Given the description of an element on the screen output the (x, y) to click on. 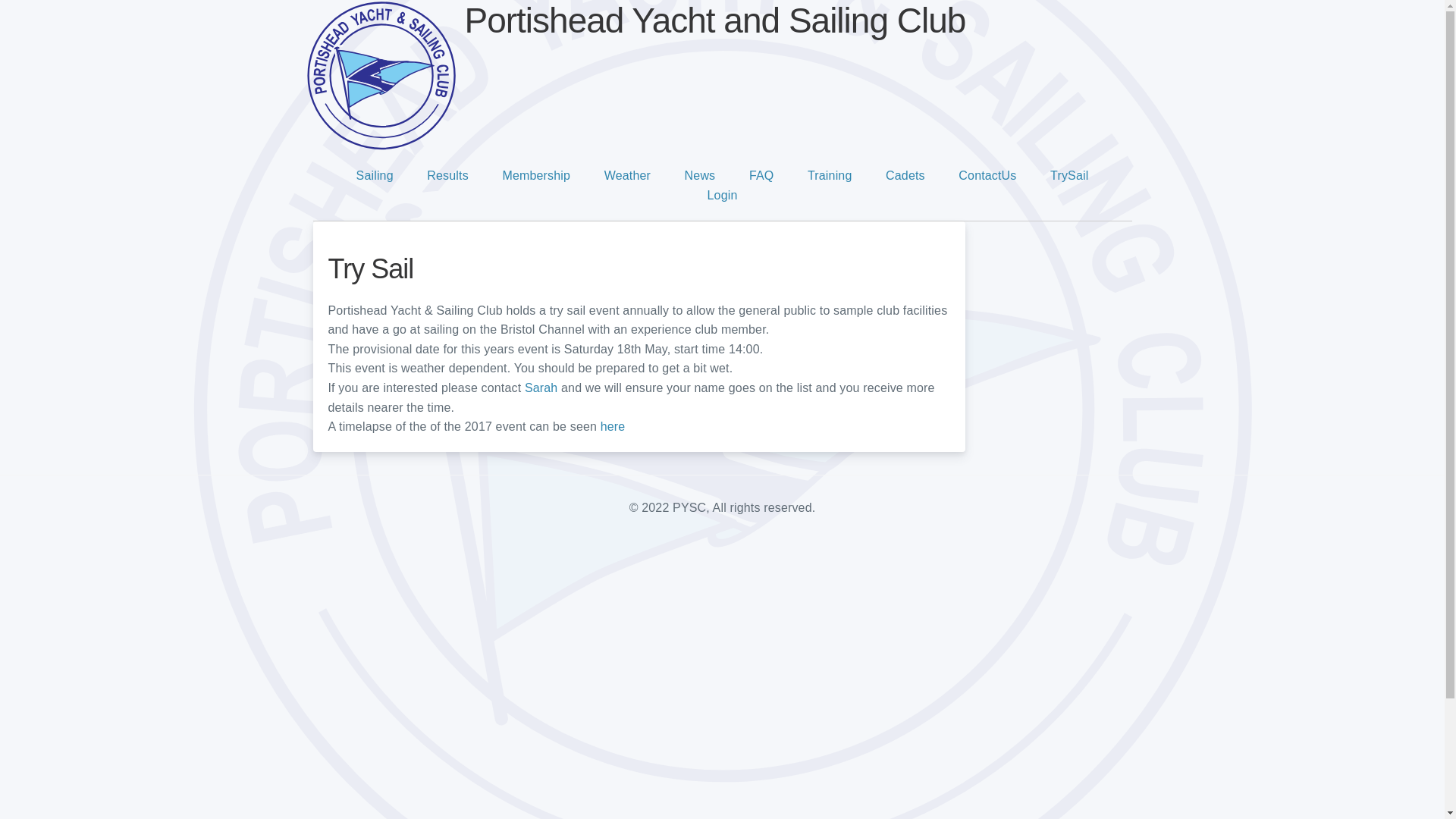
ContactUs (987, 174)
News (700, 174)
TrySail (1068, 174)
Results (446, 174)
Sarah (540, 387)
Membership (536, 174)
Cadets (904, 174)
here (612, 426)
Training (829, 174)
FAQ (761, 174)
Sailing (374, 174)
Weather (627, 174)
Login (722, 195)
